Given the description of an element on the screen output the (x, y) to click on. 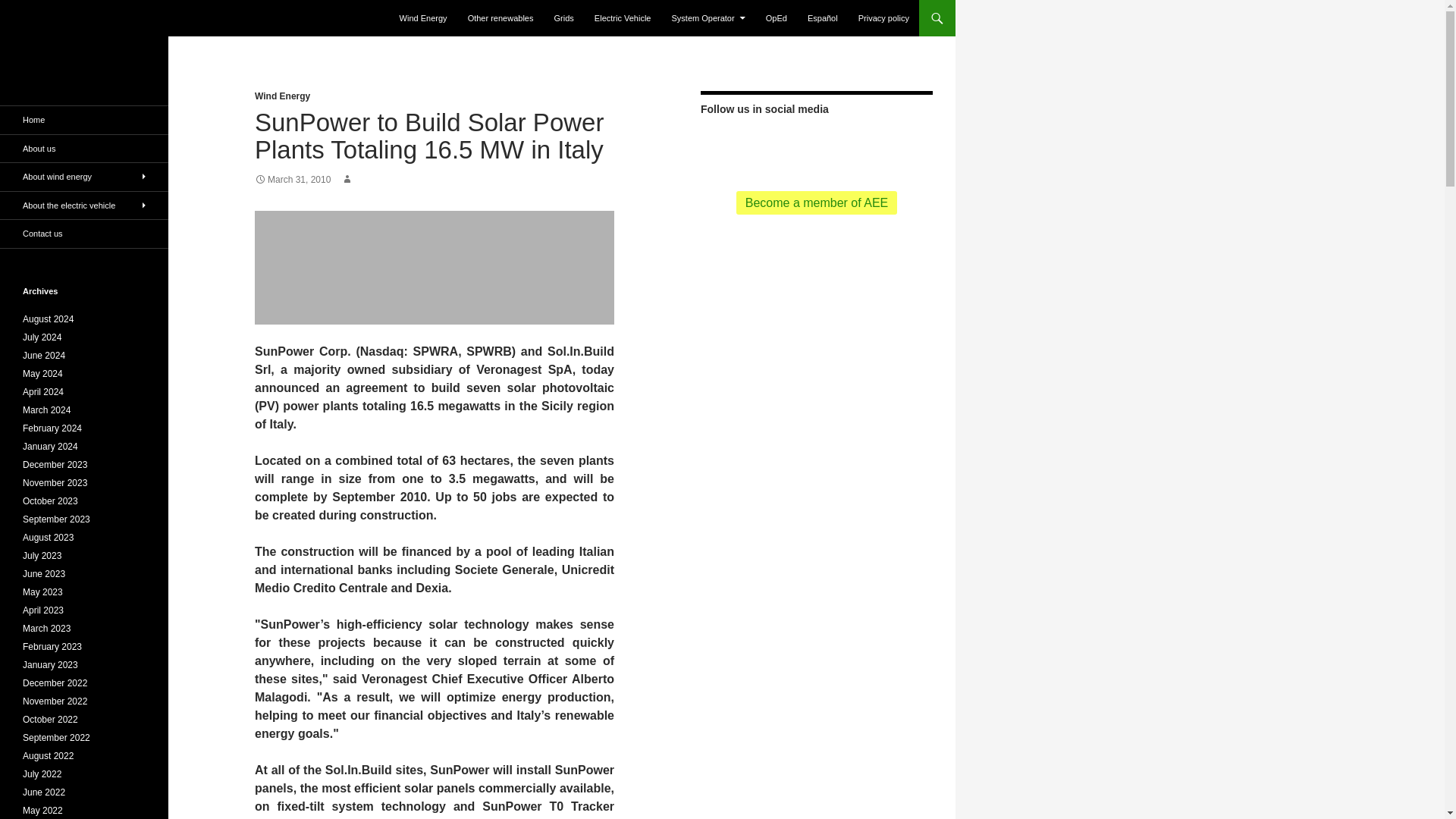
March 31, 2010 (292, 179)
Wind Energy (423, 18)
flickr (871, 145)
twitter (789, 145)
Privacy policy (883, 18)
Other renewables (500, 18)
twitter (789, 144)
System Operator (708, 18)
youtube (843, 145)
Wind Energy (282, 95)
RSS (762, 144)
Grids (563, 18)
OpEd (776, 18)
facebook (816, 144)
Become a member of AEE (817, 202)
